Given the description of an element on the screen output the (x, y) to click on. 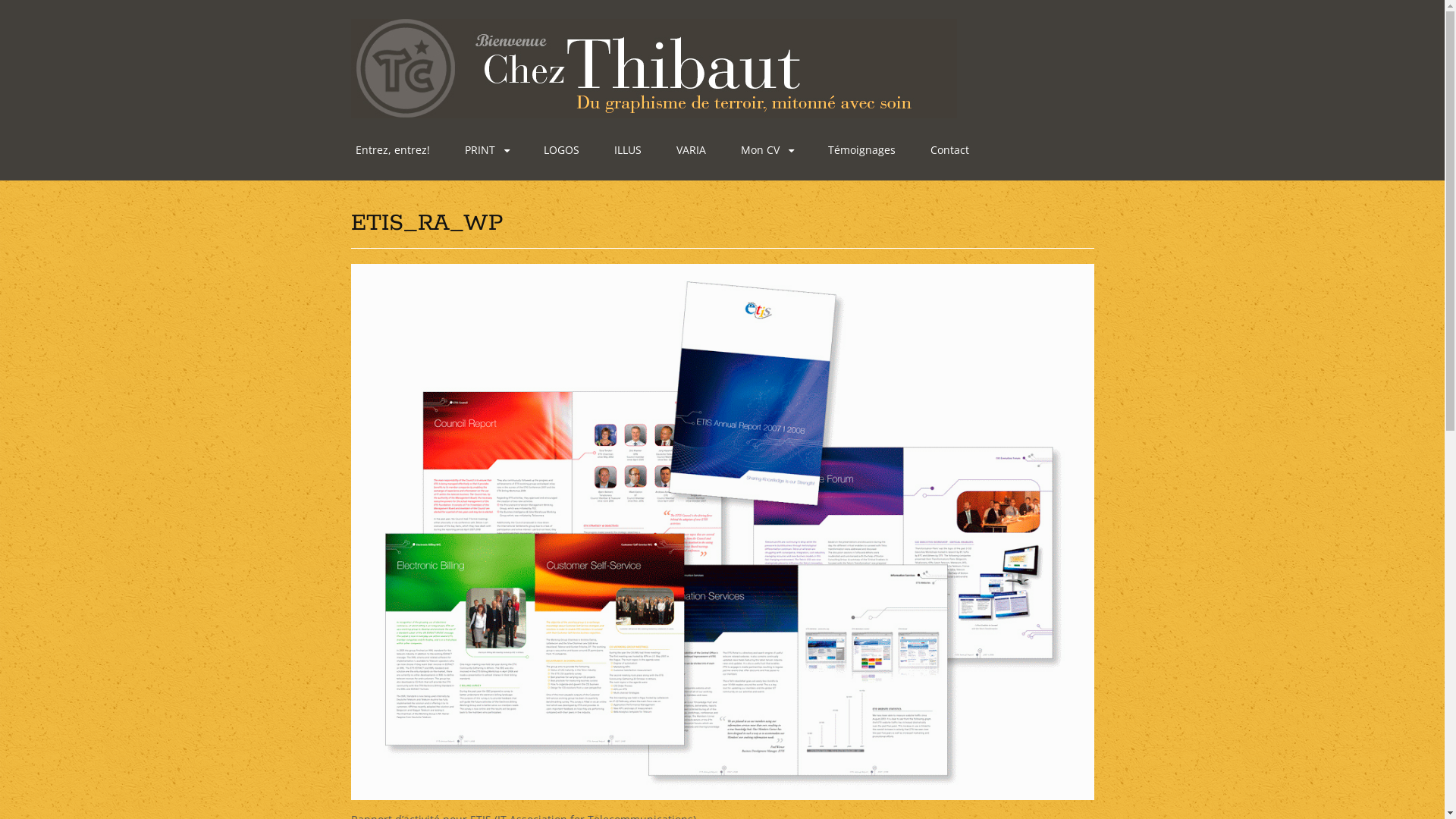
Skip to content Element type: text (354, 141)
VARIA Element type: text (691, 149)
Mon CV Element type: text (766, 149)
Entrez, entrez! Element type: text (391, 149)
LOGOS Element type: text (560, 149)
PRINT Element type: text (486, 149)
Contact Element type: text (948, 149)
ILLUS Element type: text (627, 149)
